Given the description of an element on the screen output the (x, y) to click on. 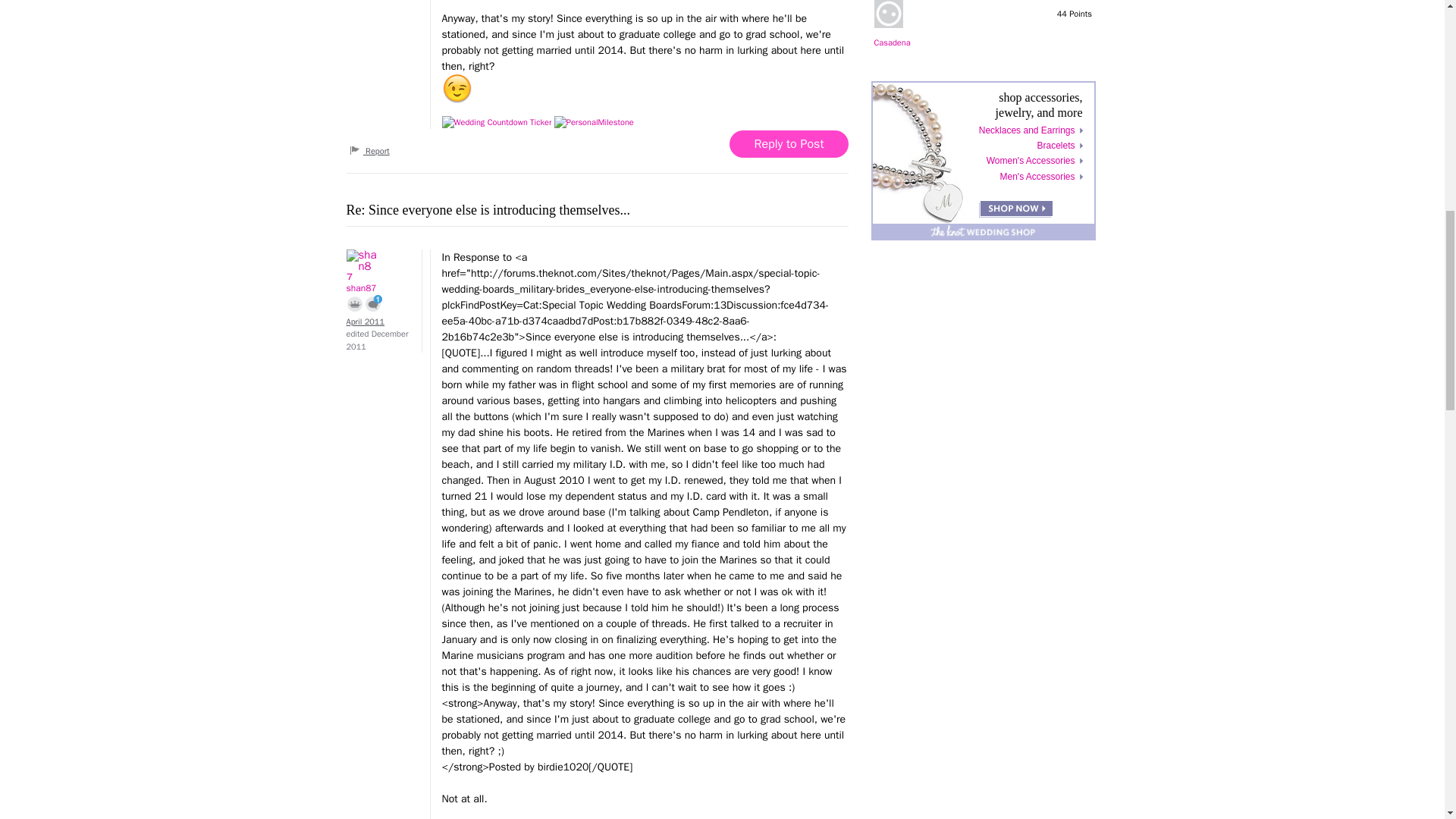
Combo Breaker (354, 303)
Newlywed Advice (593, 122)
shan87 (376, 264)
Weddings (496, 122)
Report (369, 151)
First Comment (373, 303)
Edited December 18, 2011 11:37AM by shan87. (376, 340)
April 20, 2011 2:35PM (365, 321)
